Given the description of an element on the screen output the (x, y) to click on. 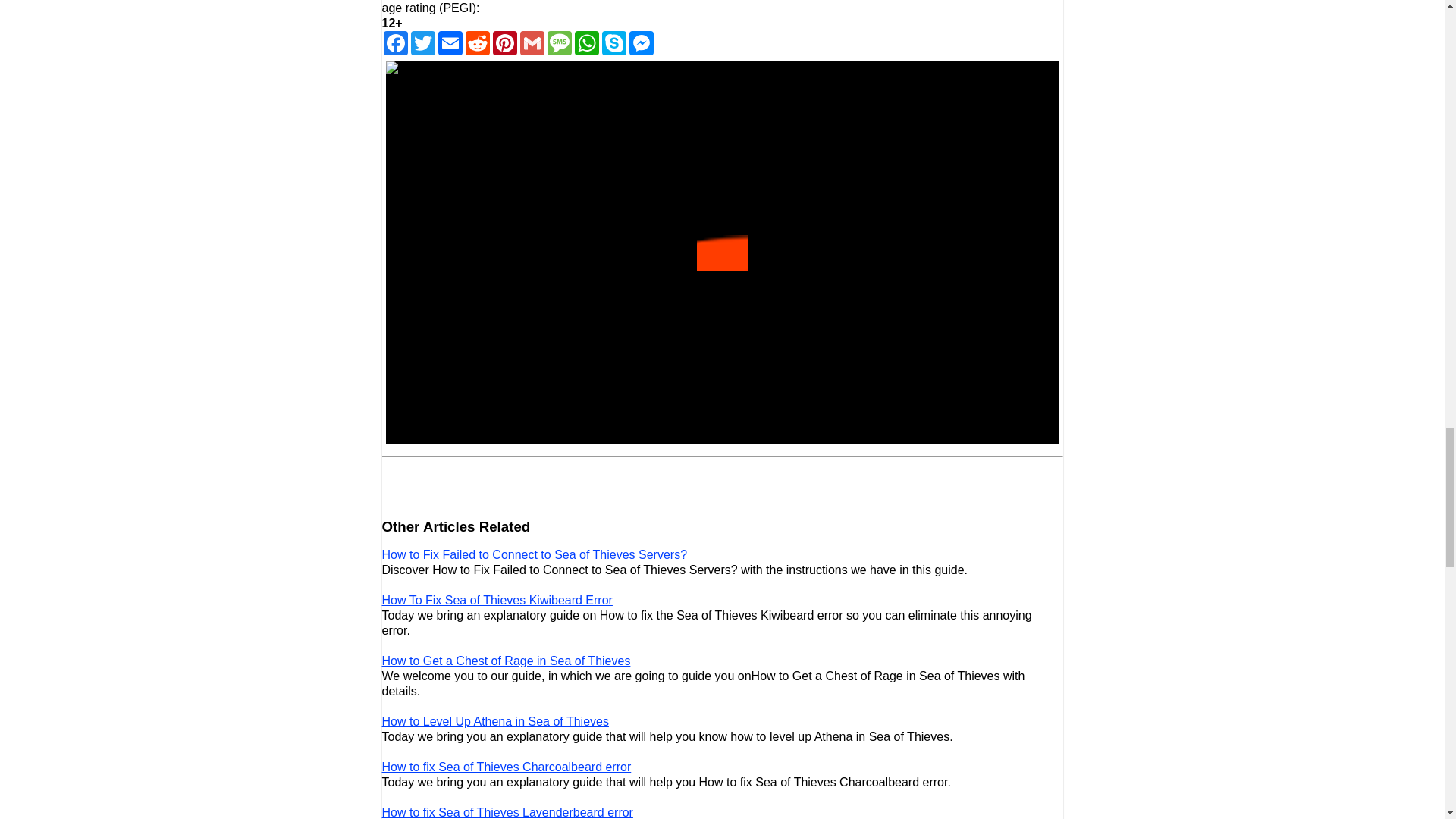
Facebook (395, 43)
Gmail (532, 43)
Reddit (478, 43)
Messenger (641, 43)
Twitter (422, 43)
Pinterest (505, 43)
Email (450, 43)
SMS (559, 43)
Skype (613, 43)
WhatsApp (586, 43)
